Given the description of an element on the screen output the (x, y) to click on. 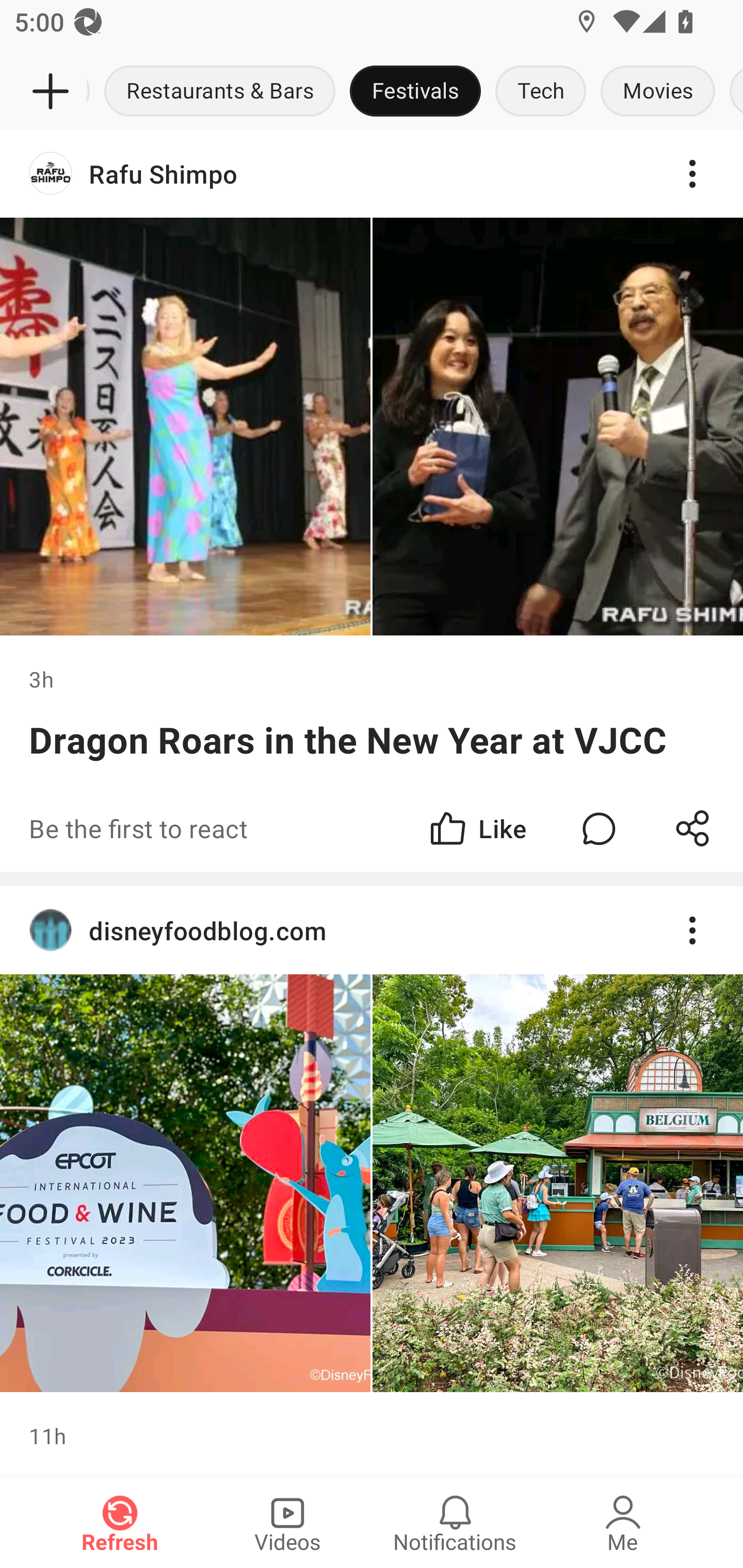
Restaurants & Bars (219, 91)
Festivals (415, 91)
Tech (540, 91)
Movies (657, 91)
Rafu Shimpo (371, 173)
Be the first to react (244, 828)
Like (476, 828)
disneyfoodblog.com (371, 929)
Videos (287, 1522)
Notifications (455, 1522)
Me (622, 1522)
